Given the description of an element on the screen output the (x, y) to click on. 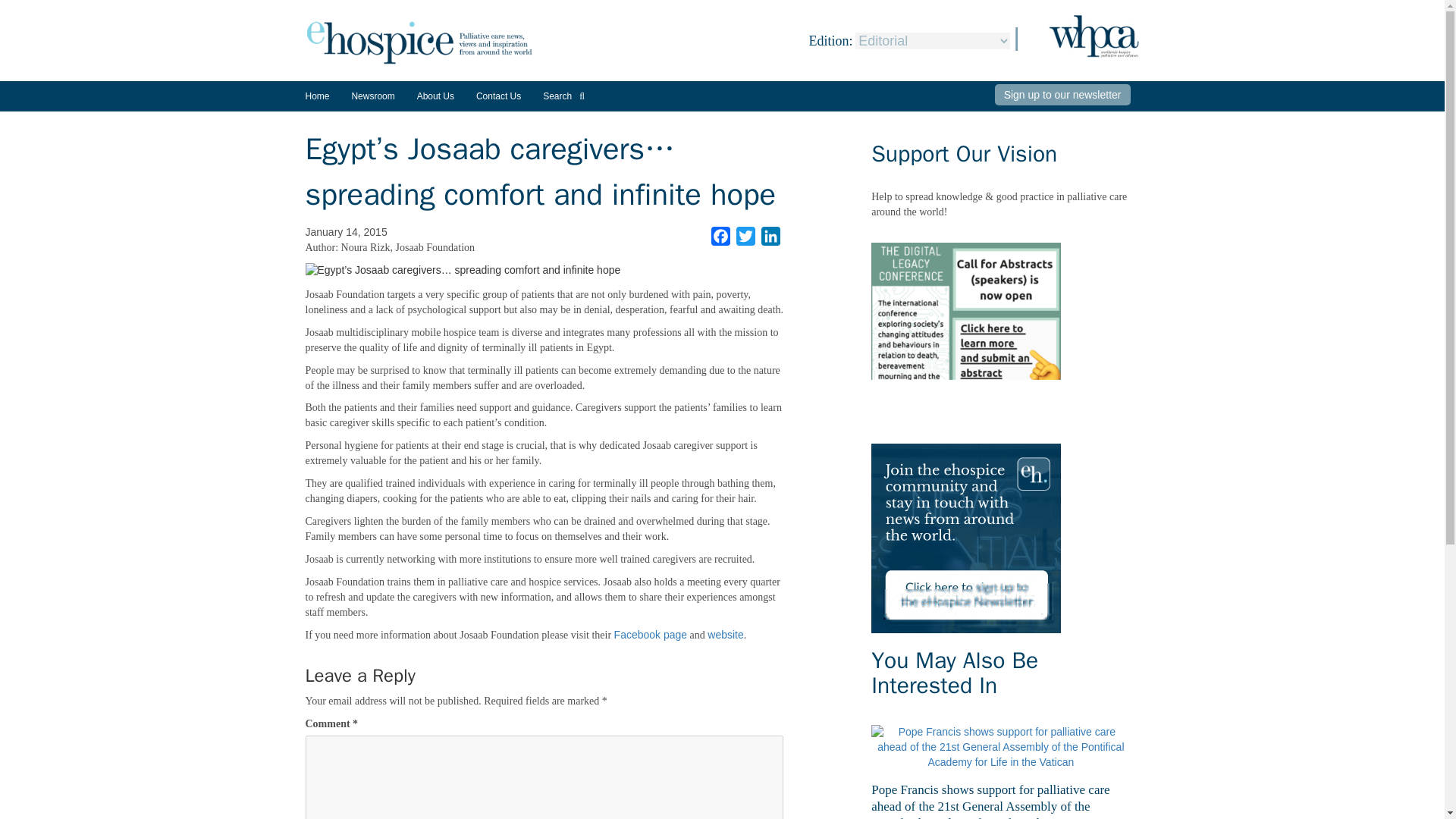
Search (564, 95)
Twitter (745, 237)
LinkedIn (770, 237)
Contact Us (498, 95)
About Us (435, 95)
Newsroom (372, 101)
Home (316, 95)
Facebook (720, 237)
Sign up to our newsletter (1062, 94)
